Given the description of an element on the screen output the (x, y) to click on. 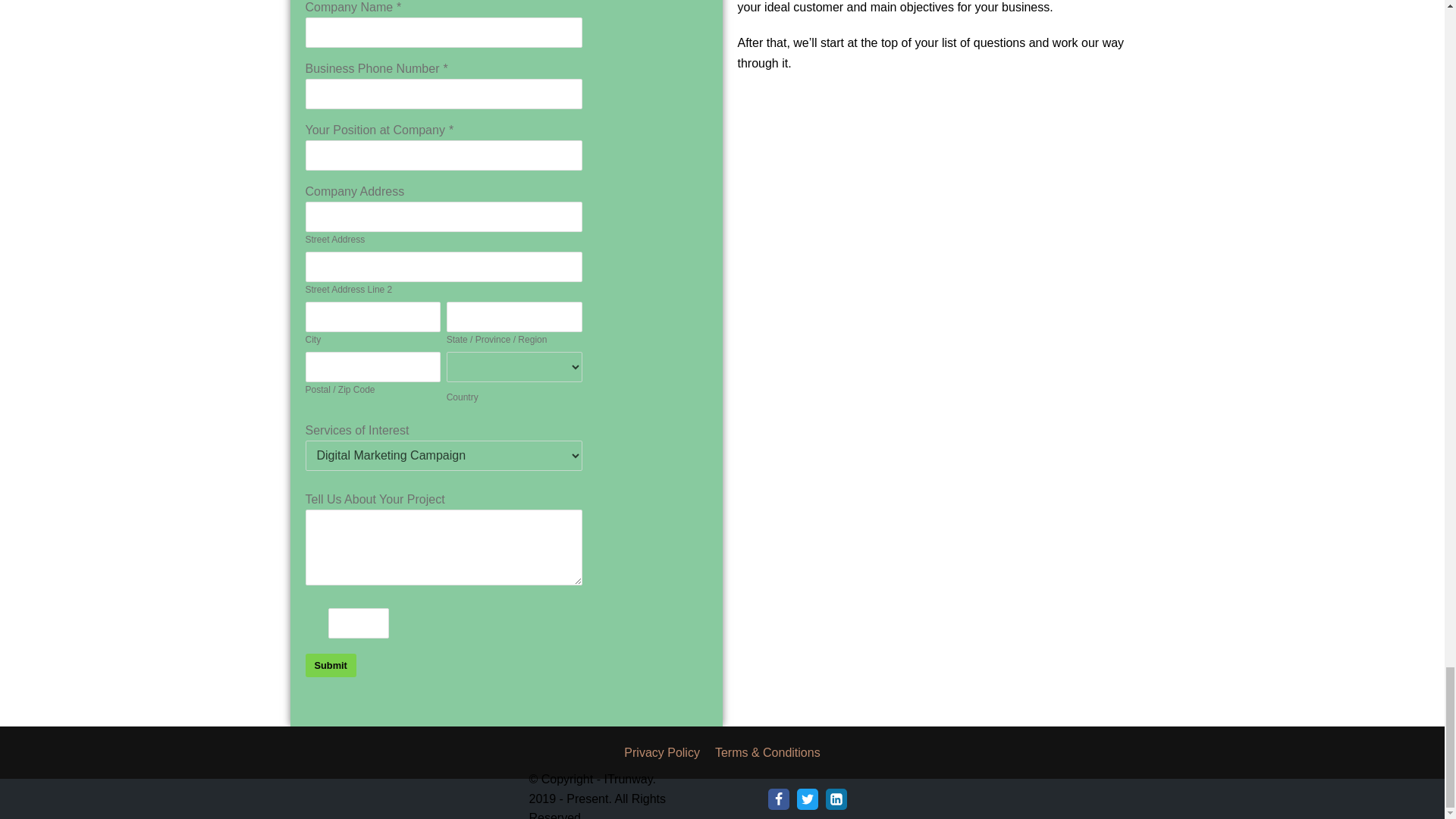
LinkedIn (836, 798)
Facebook (778, 798)
Twitter (807, 798)
Submit (329, 665)
